Given the description of an element on the screen output the (x, y) to click on. 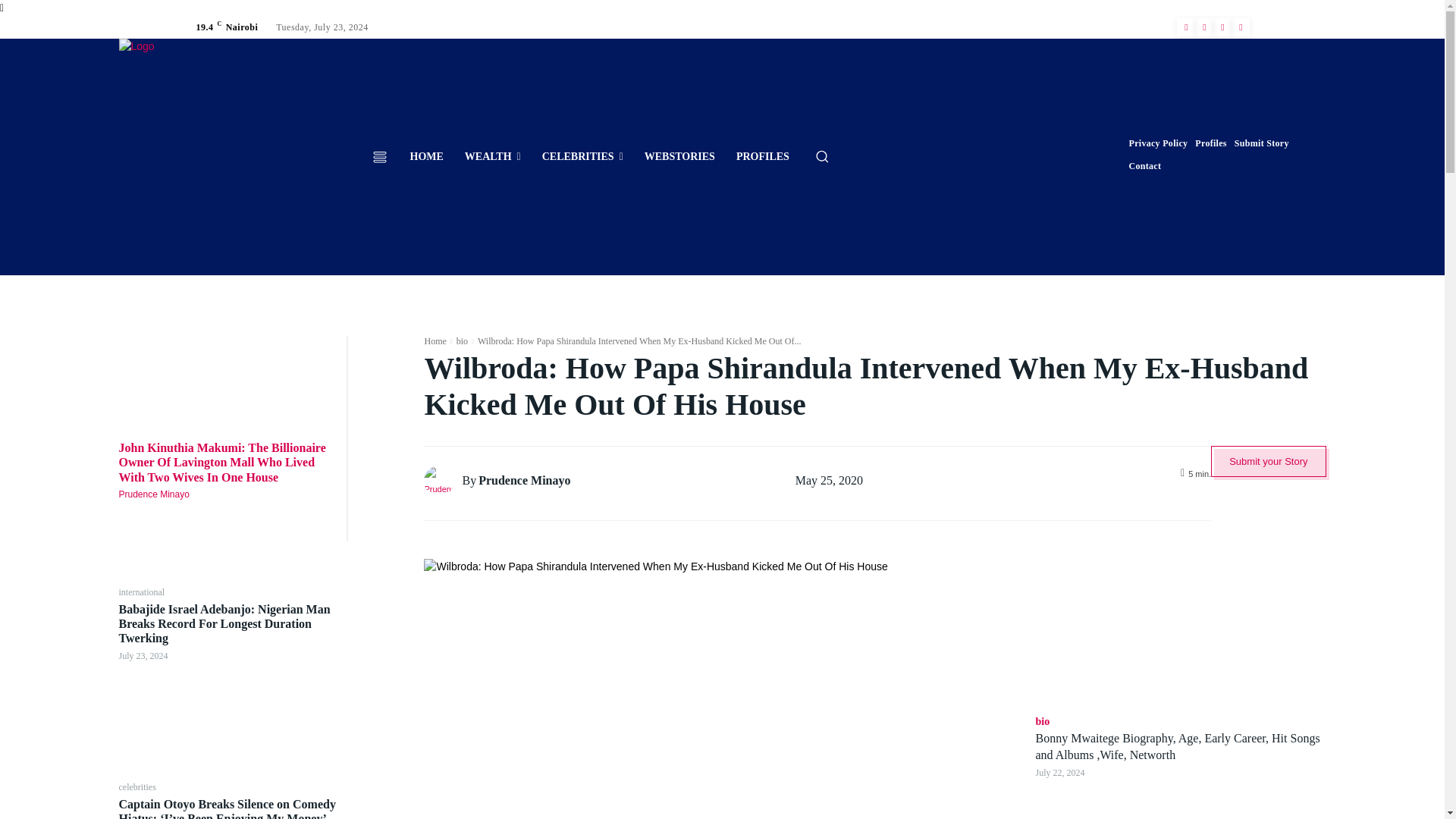
Facebook (1185, 27)
Twitter (1221, 27)
Instagram (1203, 27)
Youtube (1240, 27)
